Given the description of an element on the screen output the (x, y) to click on. 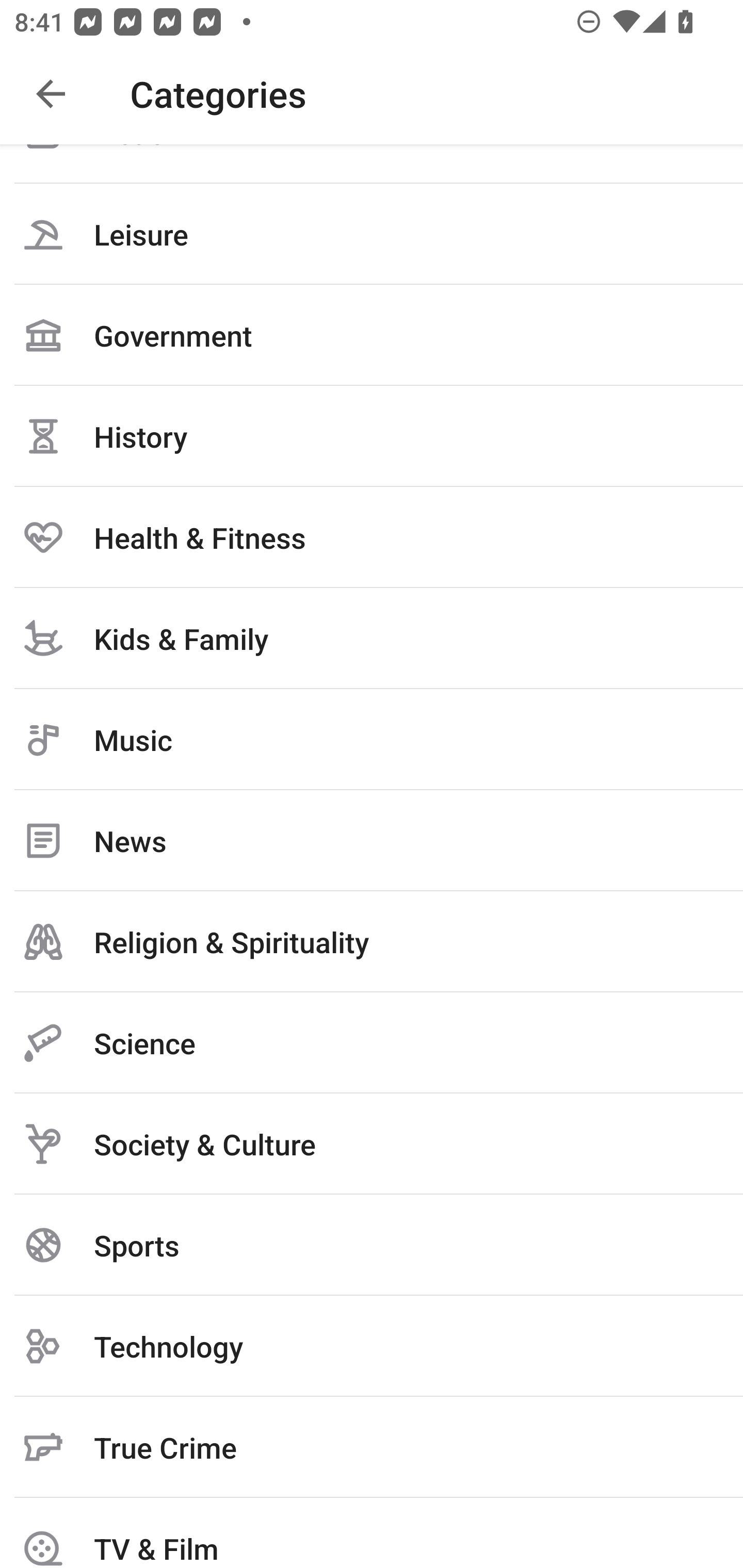
Navigate up (50, 93)
Leisure (371, 234)
Government (371, 335)
History (371, 436)
Health & Fitness (371, 537)
Kids & Family (371, 638)
Music (371, 739)
News (371, 840)
Religion & Spirituality (371, 941)
Science (371, 1042)
Society & Culture (371, 1143)
Sports (371, 1244)
Technology (371, 1346)
True Crime (371, 1447)
TV & Film (371, 1532)
